Given the description of an element on the screen output the (x, y) to click on. 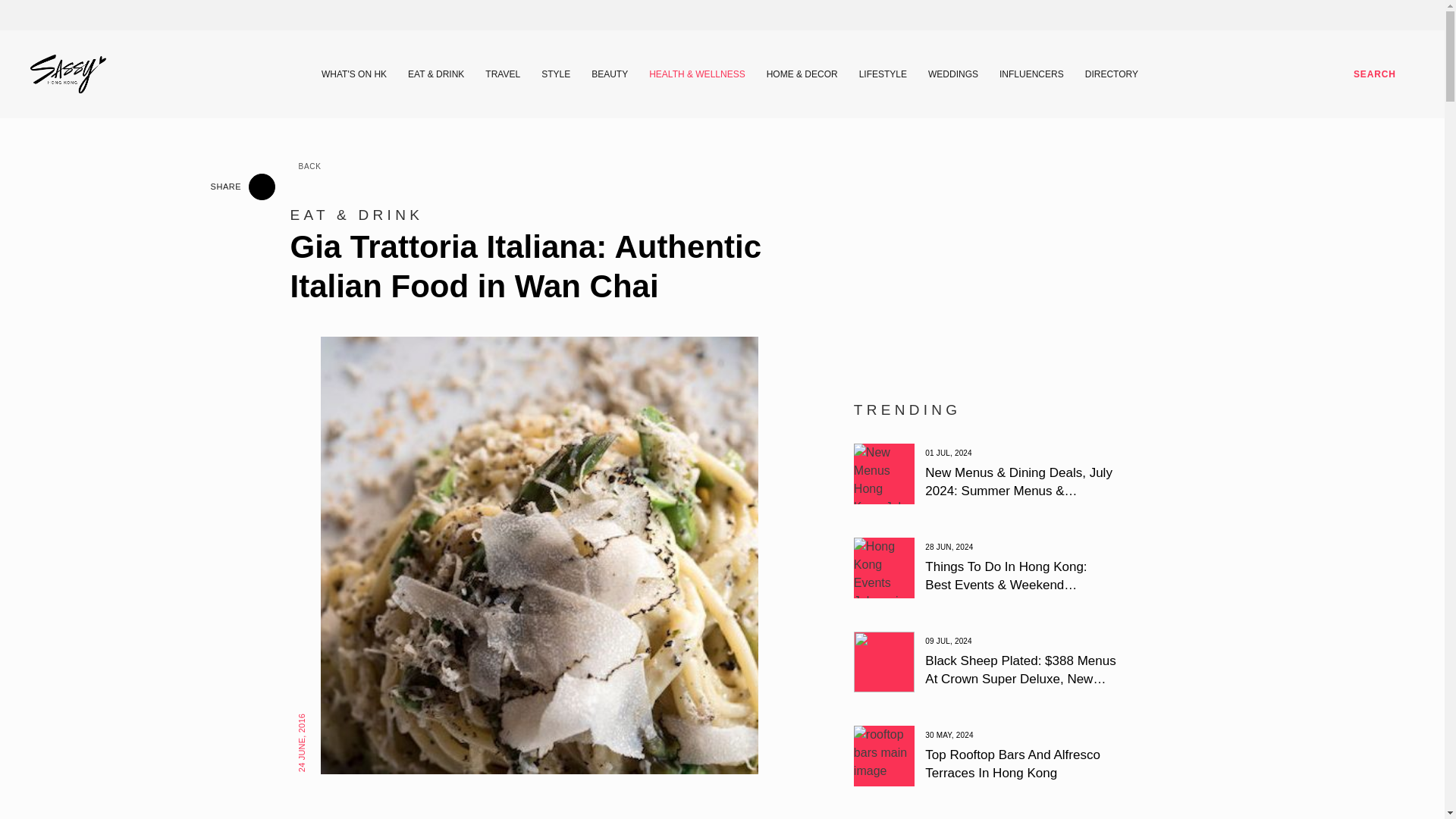
WHAT'S ON HK (354, 73)
Sassy Hong Kong (68, 74)
TRAVEL (501, 73)
